Given the description of an element on the screen output the (x, y) to click on. 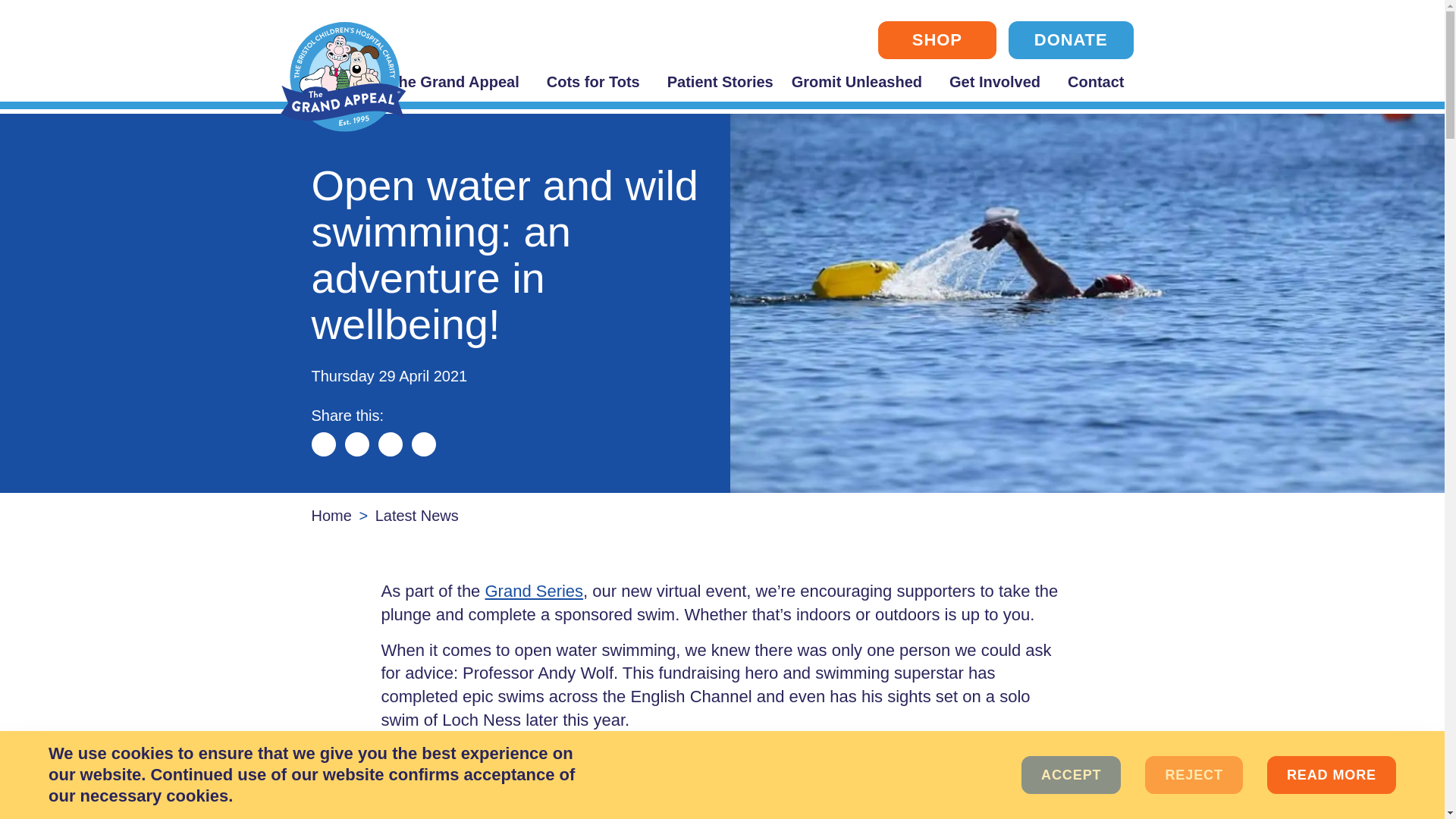
View our Privacy Policy (1331, 774)
Patient Stories (719, 81)
The Grand Appeal (458, 81)
Grand Series (533, 590)
Contact (1099, 81)
Get Involved (999, 81)
Donate (1378, 763)
Latest News (416, 515)
SHOP (936, 39)
DONATE (1071, 39)
Home (330, 515)
Cots for Tots (598, 81)
Gromit Unleashed (861, 81)
